Given the description of an element on the screen output the (x, y) to click on. 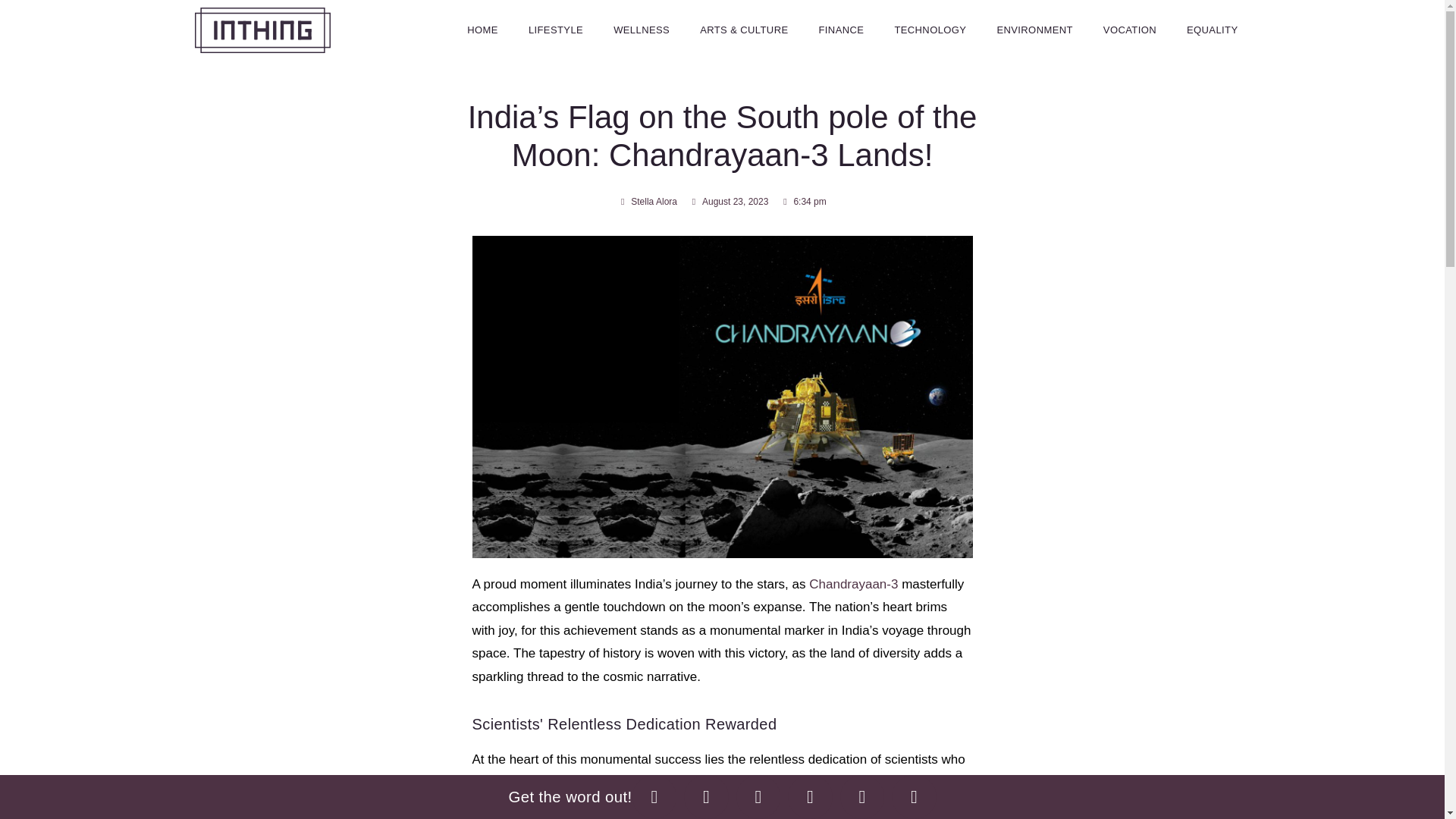
Chandrayaan-3 (853, 584)
LIFESTYLE (555, 30)
WELLNESS (641, 30)
EQUALITY (1212, 30)
ENVIRONMENT (1034, 30)
VOCATION (1129, 30)
HOME (482, 30)
August 23, 2023 (728, 201)
FINANCE (841, 30)
TECHNOLOGY (930, 30)
Stella Alora (647, 201)
